Given the description of an element on the screen output the (x, y) to click on. 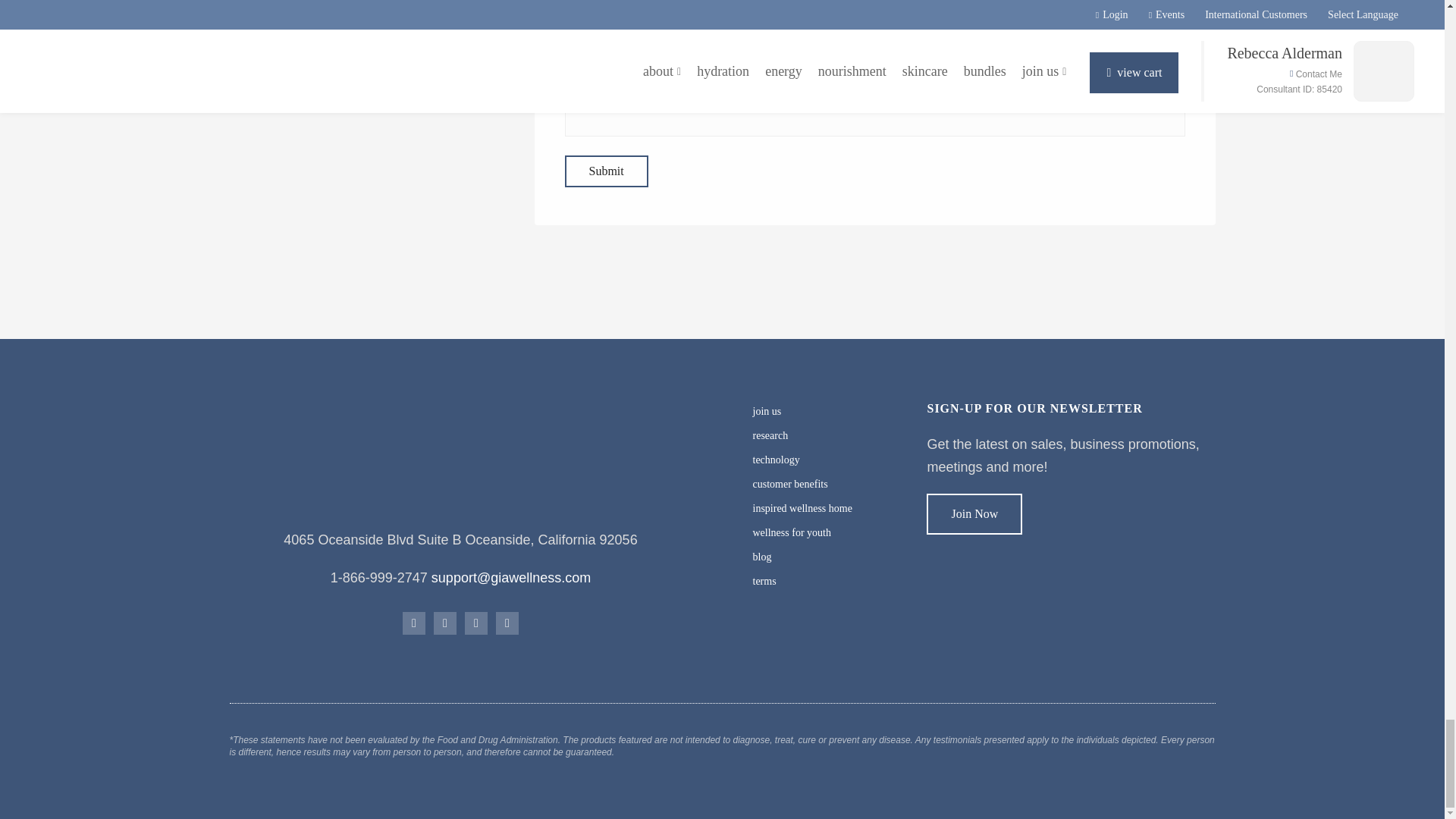
Visit us on youtube (507, 622)
Submit (605, 171)
Visit us on Instagram (445, 622)
Visit us on facebook (414, 622)
Submit (605, 171)
Visit us on Twitter (475, 622)
